Given the description of an element on the screen output the (x, y) to click on. 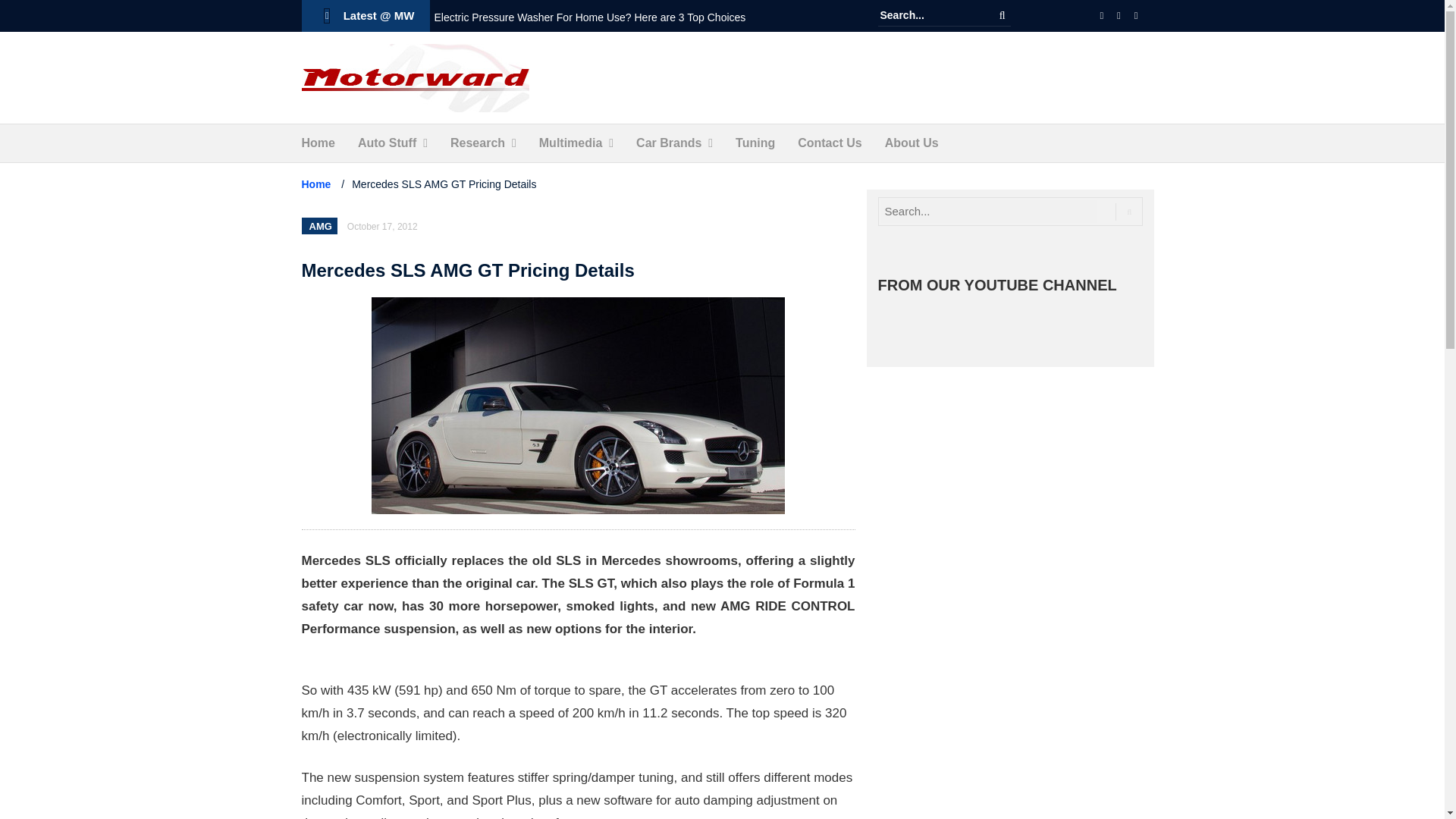
Mercedes Benz SLS AMG GT 1 (577, 405)
Research (477, 143)
Search   (1002, 14)
Multimedia (570, 143)
Home (317, 143)
Car Brands (668, 143)
Auto Stuff (387, 143)
